Given the description of an element on the screen output the (x, y) to click on. 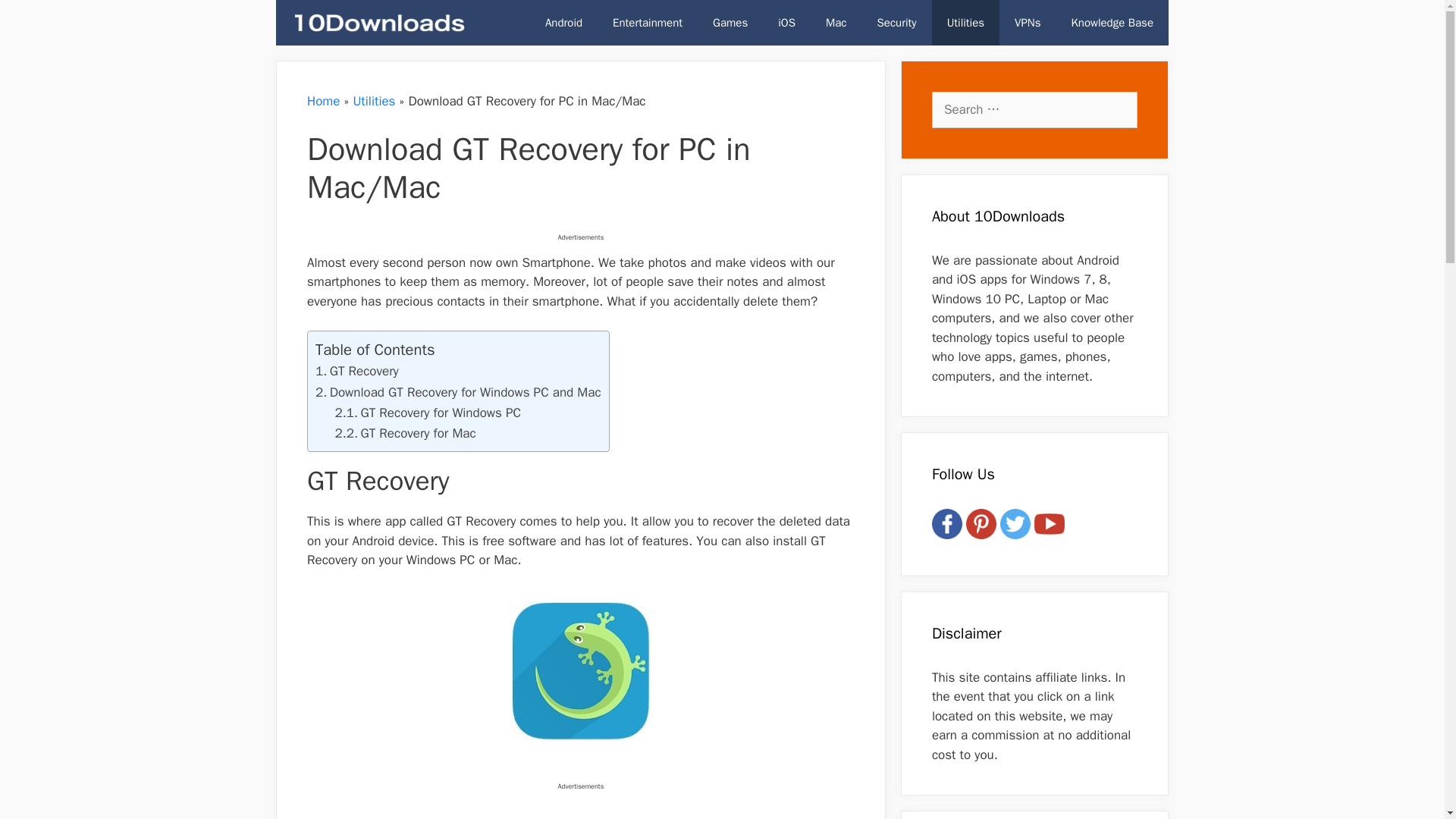
Utilities (373, 100)
GT Recovery for Windows PC (427, 412)
Games (729, 22)
Search (33, 17)
Knowledge Base (1113, 22)
GT Recovery for Windows PC (427, 412)
iOS (786, 22)
GT Recovery (356, 371)
Search for: (1034, 109)
Home (323, 100)
10Downloads (378, 22)
GT Recovery (356, 371)
Download GT Recovery for Windows PC and Mac (458, 392)
GT Recovery for Mac (405, 433)
Download GT Recovery for Windows PC and Mac (458, 392)
